Given the description of an element on the screen output the (x, y) to click on. 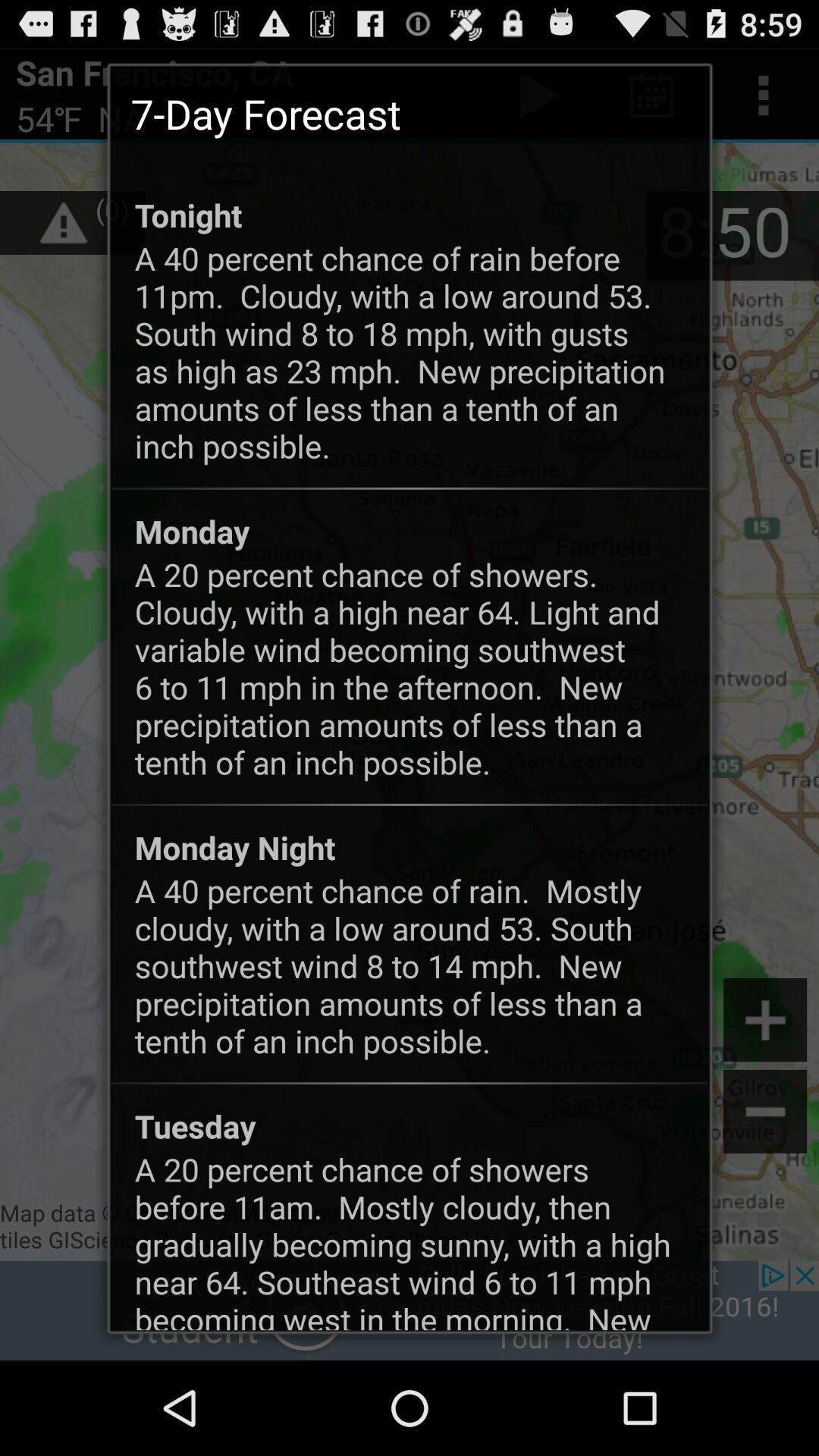
open app above a 40 percent item (188, 214)
